Given the description of an element on the screen output the (x, y) to click on. 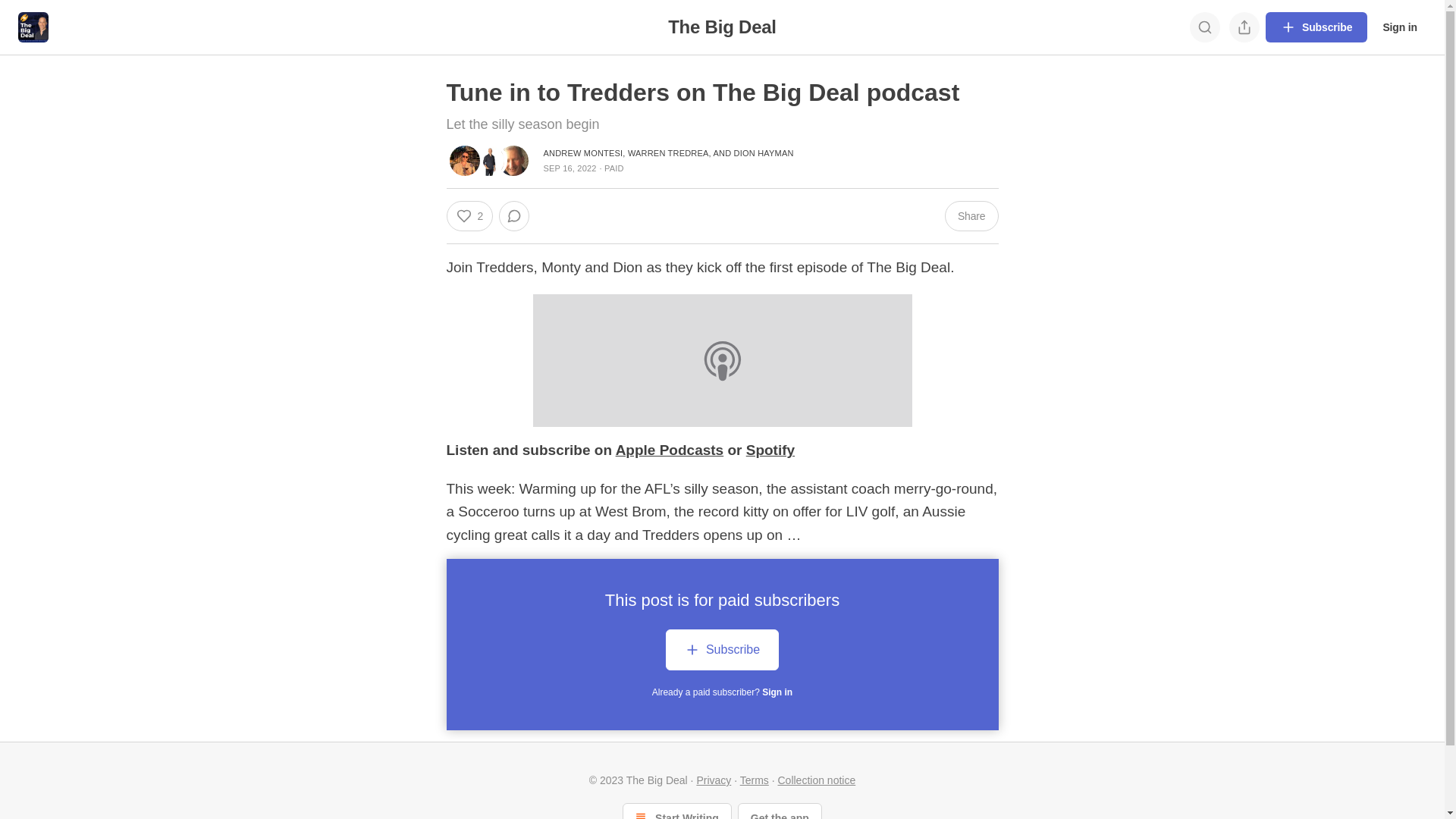
WARREN TREDREA Element type: text (668, 152)
DION HAYMAN Element type: text (763, 152)
Share Element type: text (971, 215)
Subscribe Element type: text (1316, 27)
Subscribe Element type: text (721, 652)
The Big Deal Element type: text (722, 26)
Apple Podcasts Element type: text (669, 450)
2 Element type: text (468, 215)
Sign in Element type: text (1399, 27)
Spotify Element type: text (770, 450)
Privacy Element type: text (713, 780)
Collection notice Element type: text (817, 780)
Terms Element type: text (754, 780)
Subscribe Element type: text (721, 649)
ANDREW MONTESI Element type: text (582, 152)
Already a paid subscriber? Sign in Element type: text (722, 692)
